Given the description of an element on the screen output the (x, y) to click on. 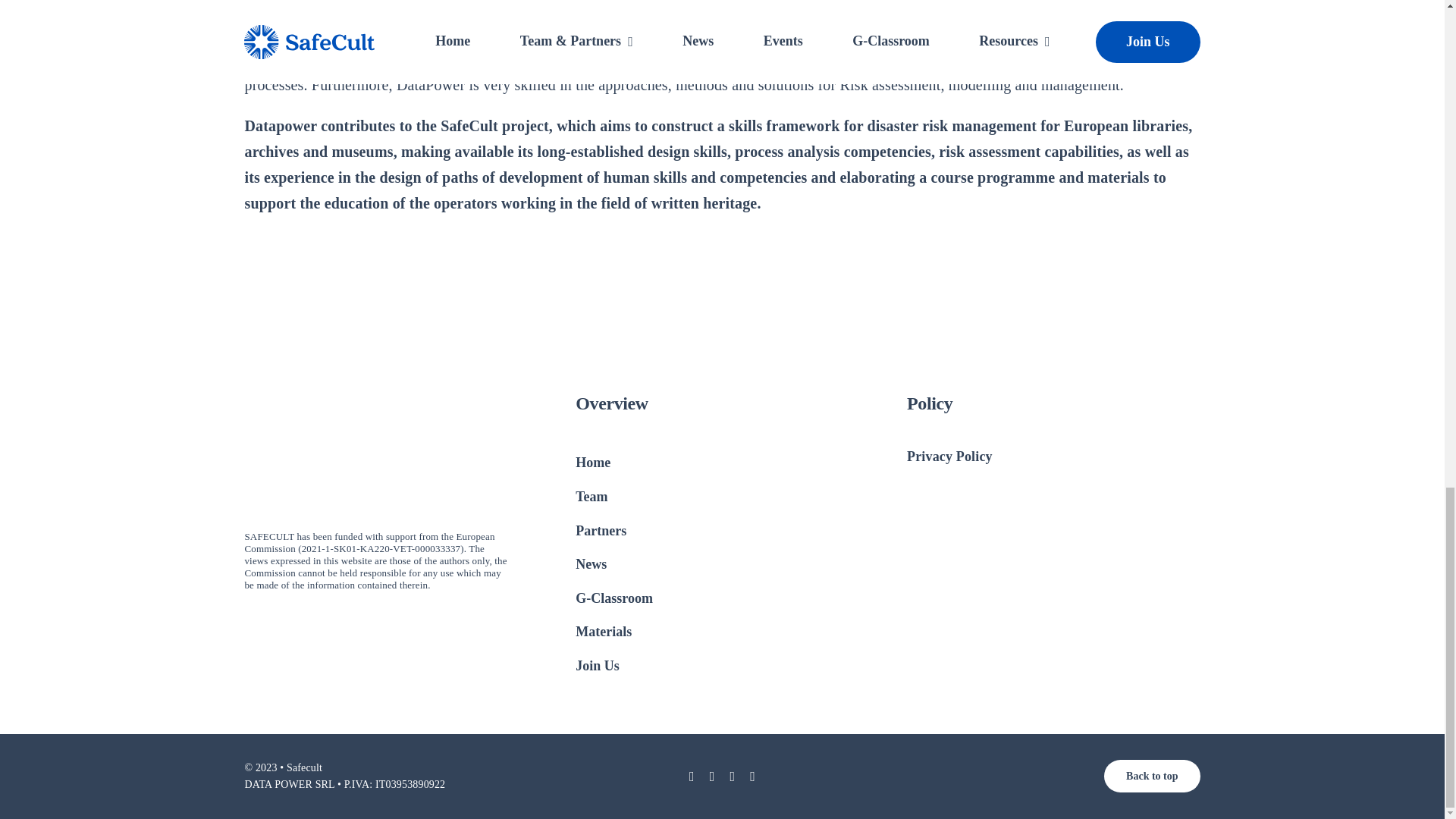
Partners (641, 531)
Team (641, 497)
Home (641, 463)
